Given the description of an element on the screen output the (x, y) to click on. 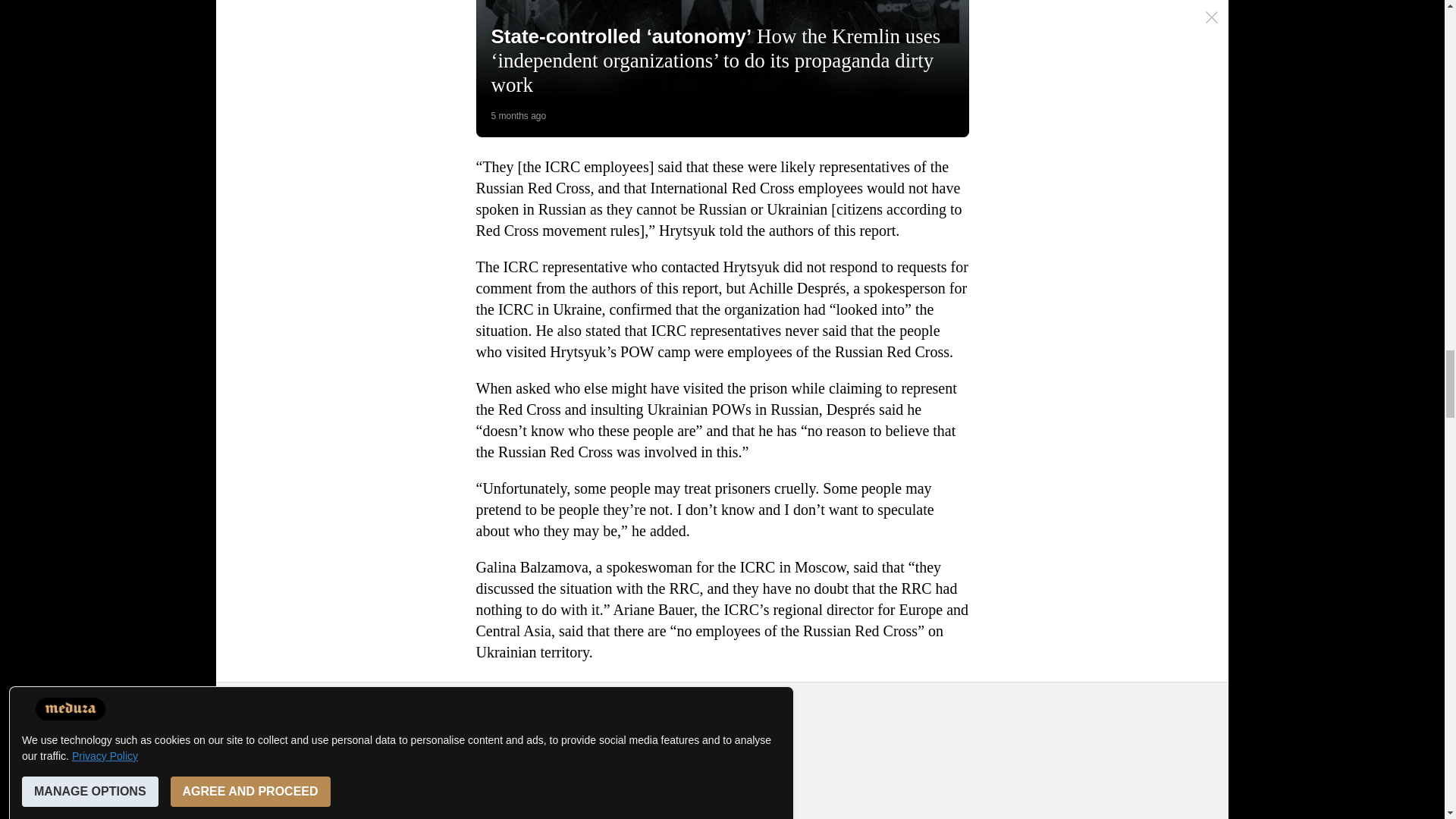
3rd party ad content (722, 760)
